Given the description of an element on the screen output the (x, y) to click on. 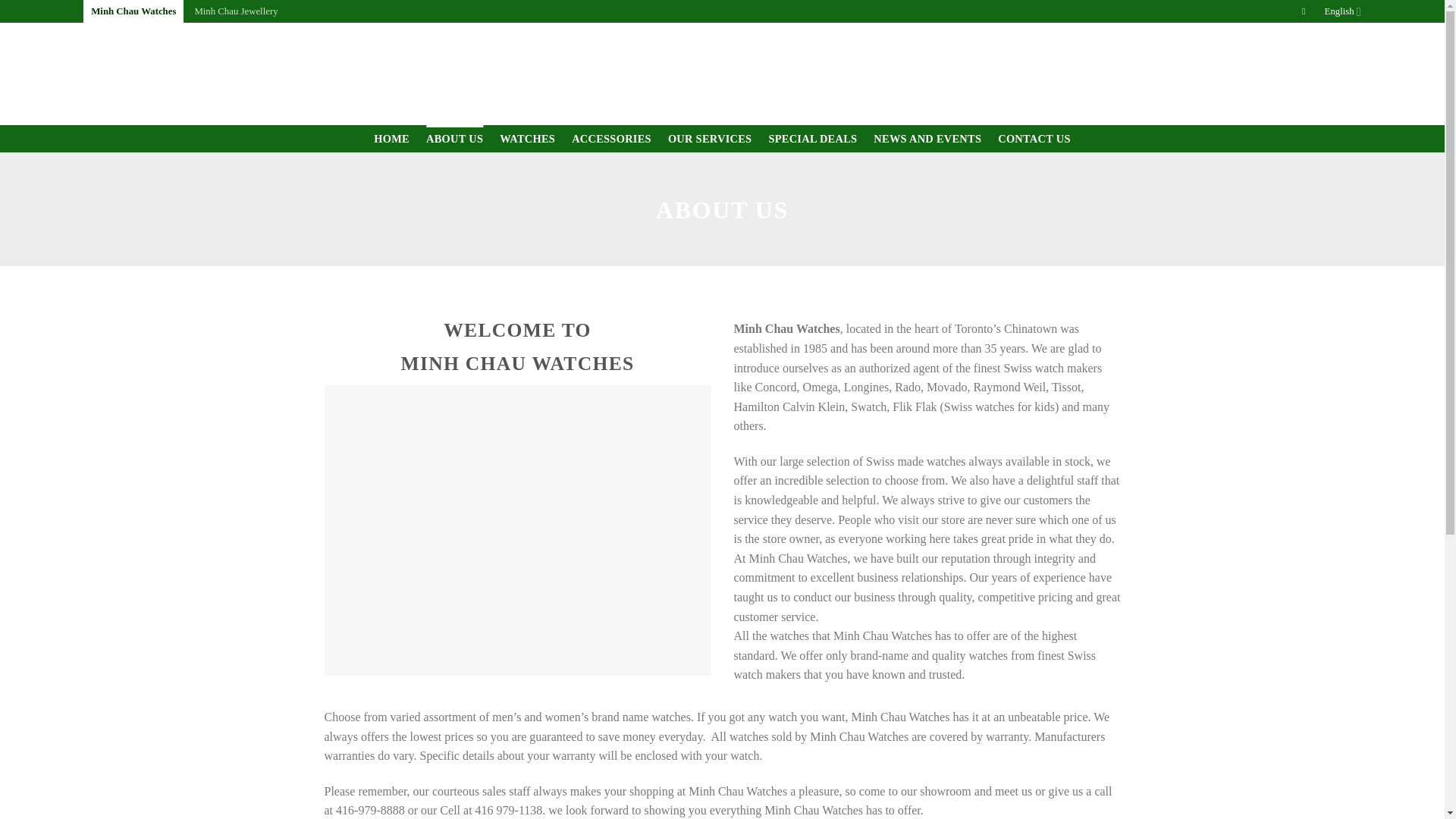
WATCHES (526, 138)
ABOUT US (454, 138)
OUR SERVICES (710, 138)
Minh Chau Jewellery (235, 11)
CONTACT US (1033, 138)
Minh Chau Watches (133, 11)
SPECIAL DEALS (812, 138)
NEWS AND EVENTS (927, 138)
ACCESSORIES (611, 138)
English (1342, 11)
HOME (391, 138)
